Given the description of an element on the screen output the (x, y) to click on. 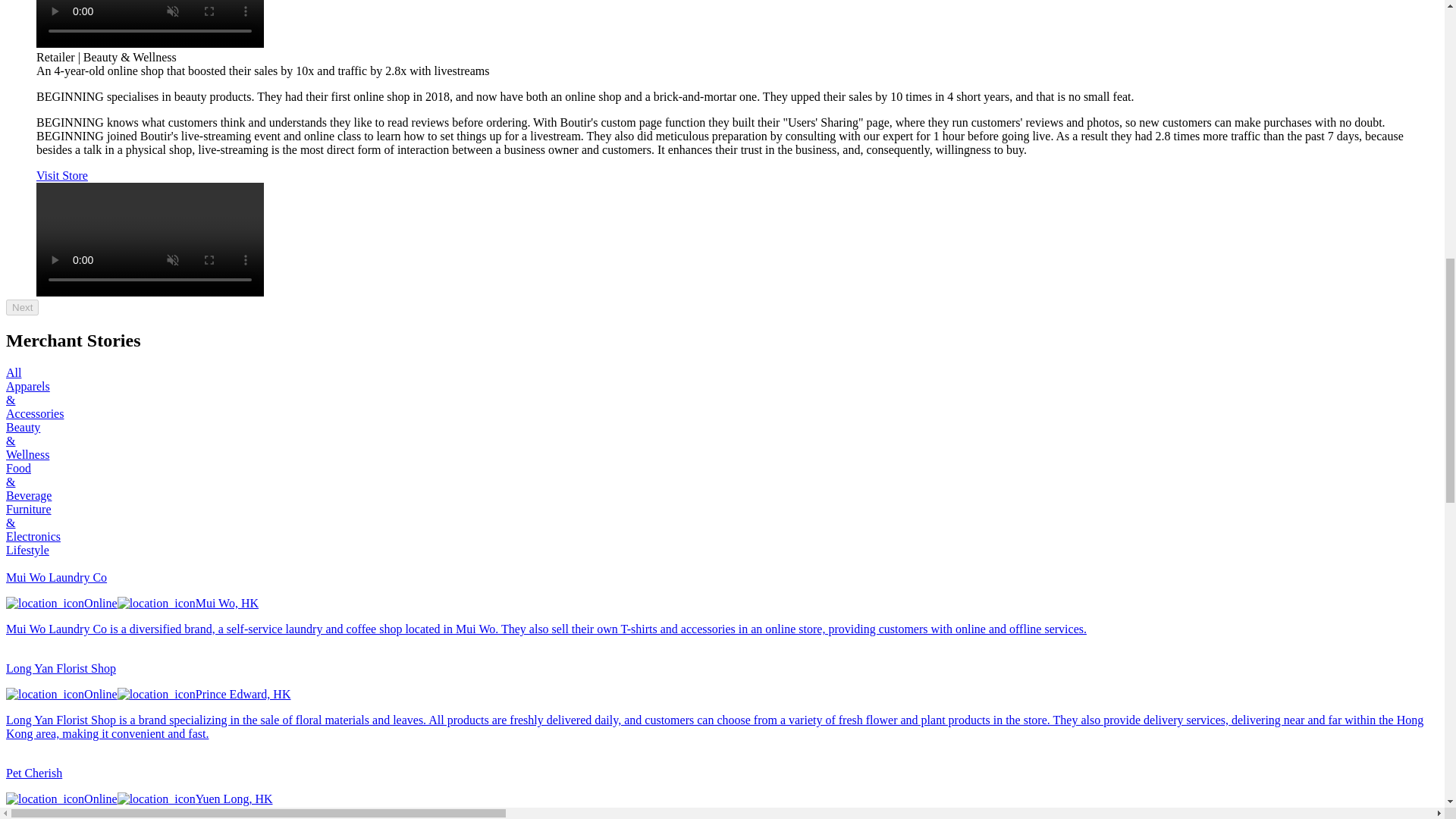
Lifestyle (27, 549)
Next (22, 307)
Visit Store (61, 174)
All (13, 372)
